Given the description of an element on the screen output the (x, y) to click on. 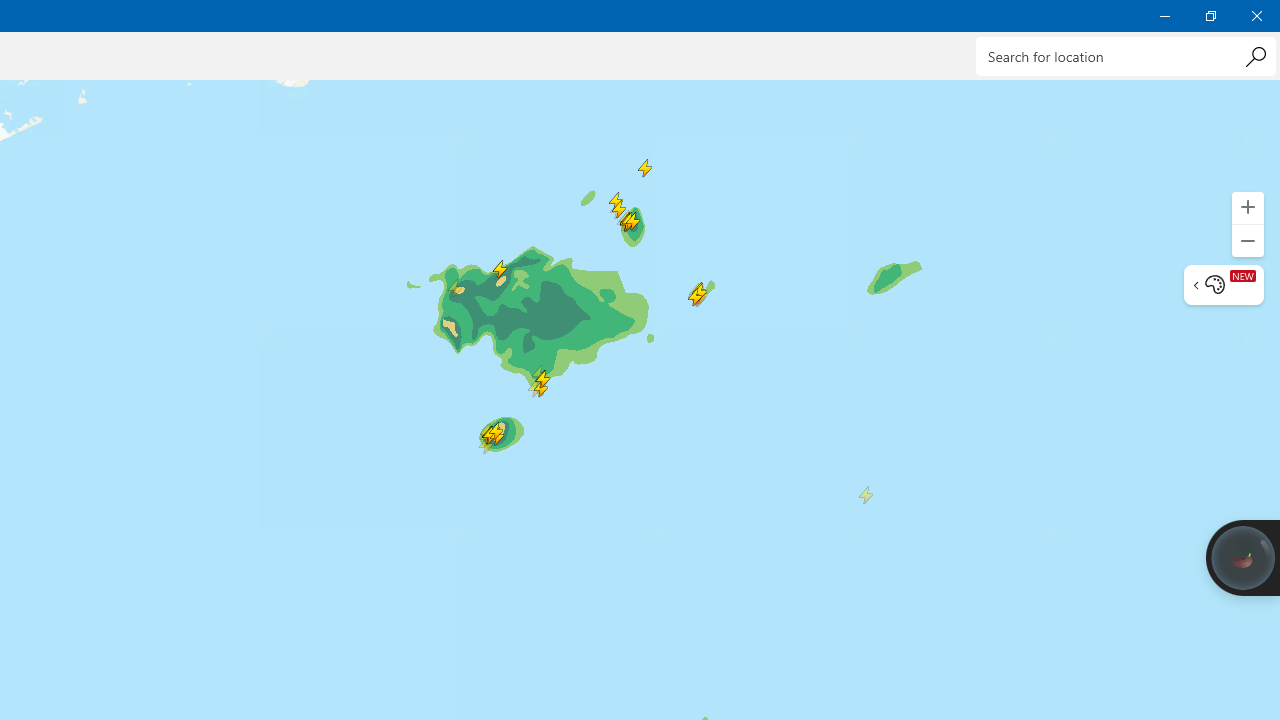
Minimize Weather (1164, 15)
Close Weather (1256, 15)
Search (1255, 56)
Search for location (1125, 56)
Restore Weather (1210, 15)
